Given the description of an element on the screen output the (x, y) to click on. 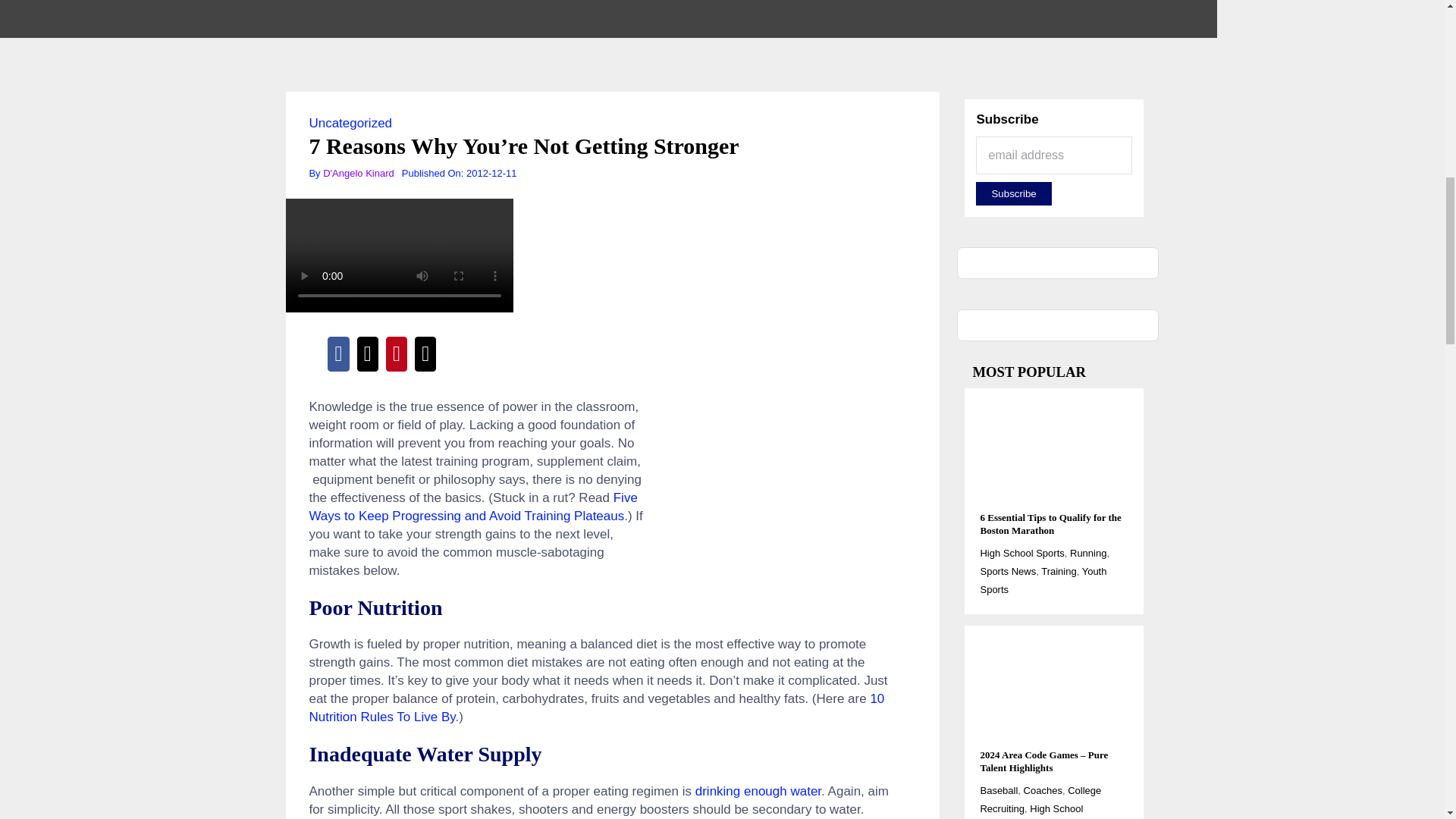
Posts by D'Angelo Kinard (358, 173)
Uncategorized (349, 123)
Subscribe (1013, 193)
Skinny Weightlifting - STACK (775, 492)
